Given the description of an element on the screen output the (x, y) to click on. 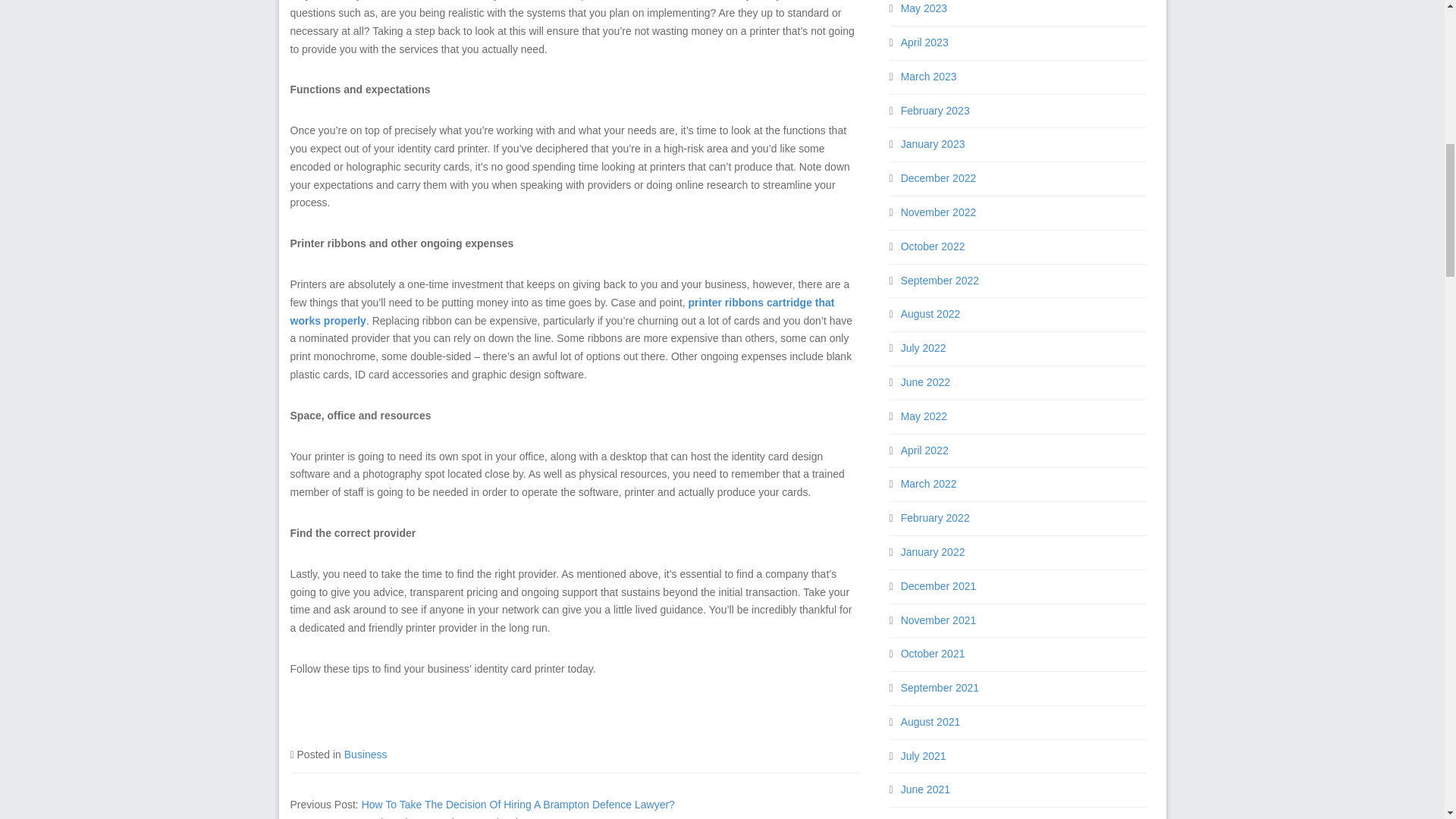
Business (365, 754)
February 2023 (935, 110)
April 2023 (925, 42)
September 2022 (940, 280)
December 2022 (938, 177)
March 2023 (928, 76)
January 2023 (933, 143)
November 2022 (938, 212)
October 2022 (933, 246)
printer ribbons cartridge that works properly (561, 311)
Get Casino Slot Free Cheats And Coins (435, 817)
May 2023 (924, 8)
